Given the description of an element on the screen output the (x, y) to click on. 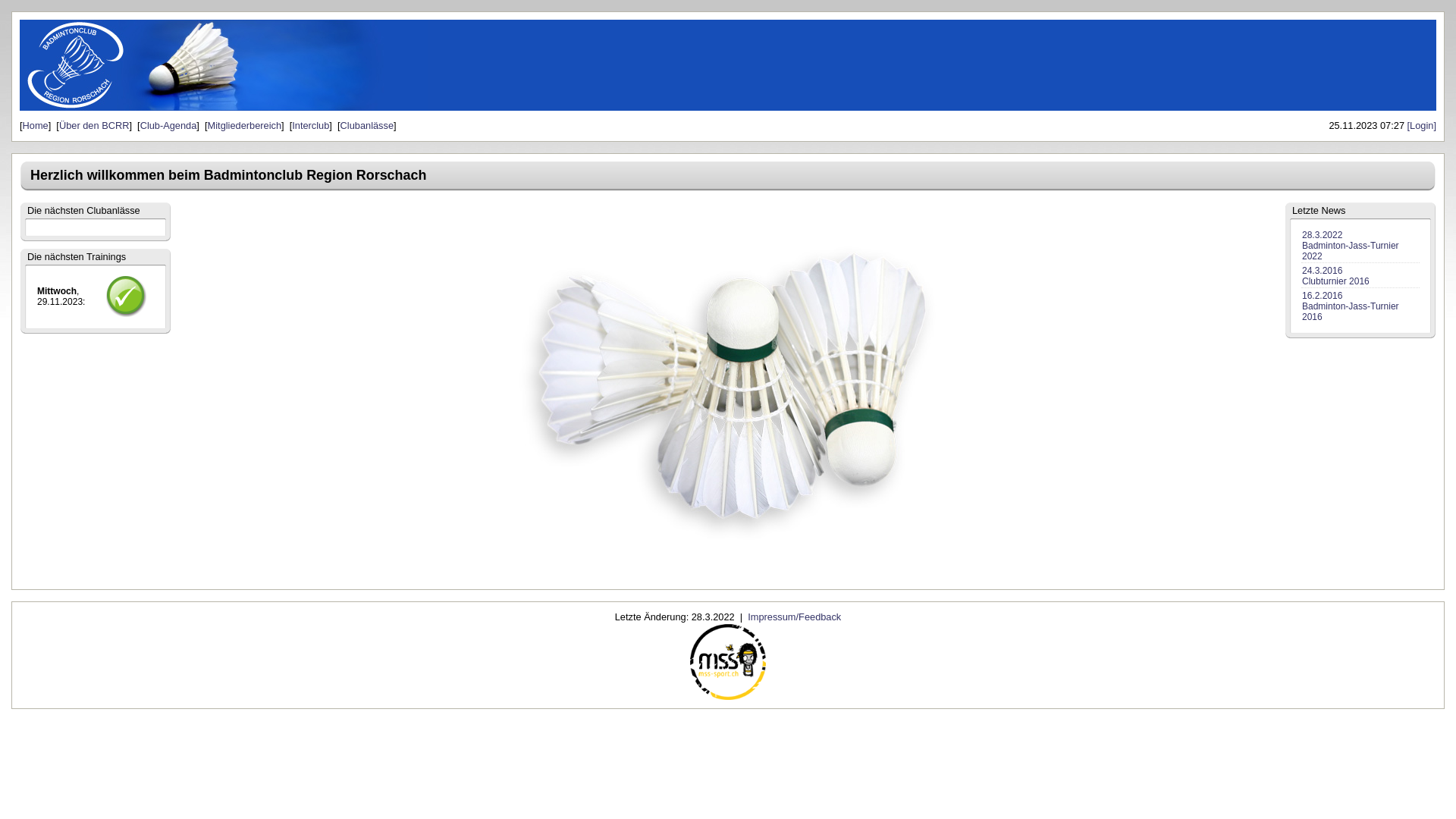
[Login] Element type: text (1421, 125)
Mitgliederbereich Element type: text (244, 125)
16.2.2016
Badminton-Jass-Turnier 2016 Element type: text (1350, 306)
24.3.2016
Clubturnier 2016 Element type: text (1335, 275)
Impressum/Feedback Element type: text (793, 616)
Home Element type: text (35, 125)
28.3.2022
Badminton-Jass-Turnier 2022 Element type: text (1350, 245)
Club-Agenda Element type: text (168, 125)
Interclub Element type: text (310, 125)
